Given the description of an element on the screen output the (x, y) to click on. 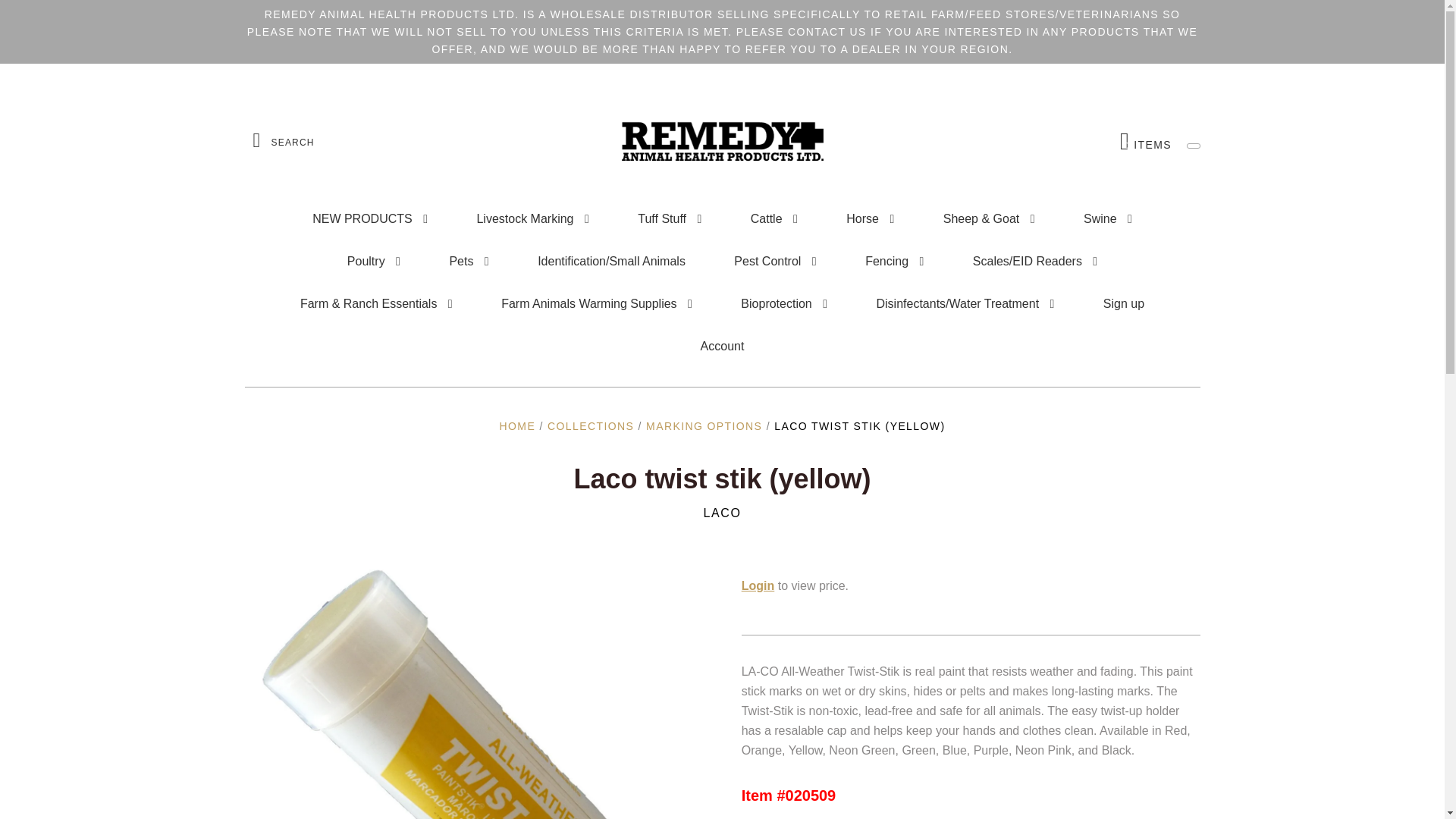
NEW PRODUCTS (369, 219)
Livestock Marking (531, 219)
